Given the description of an element on the screen output the (x, y) to click on. 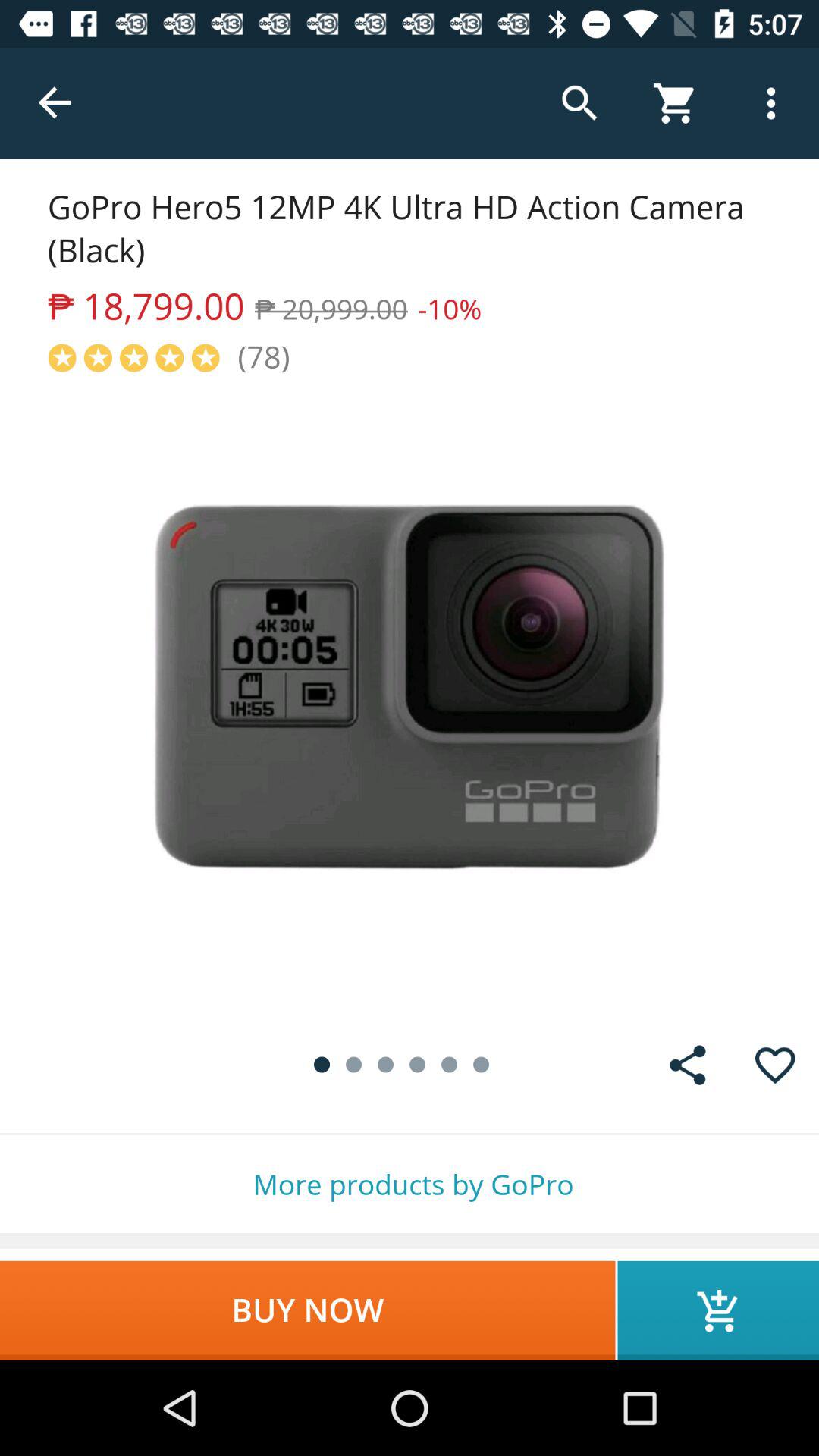
select the item at the center (409, 698)
